Given the description of an element on the screen output the (x, y) to click on. 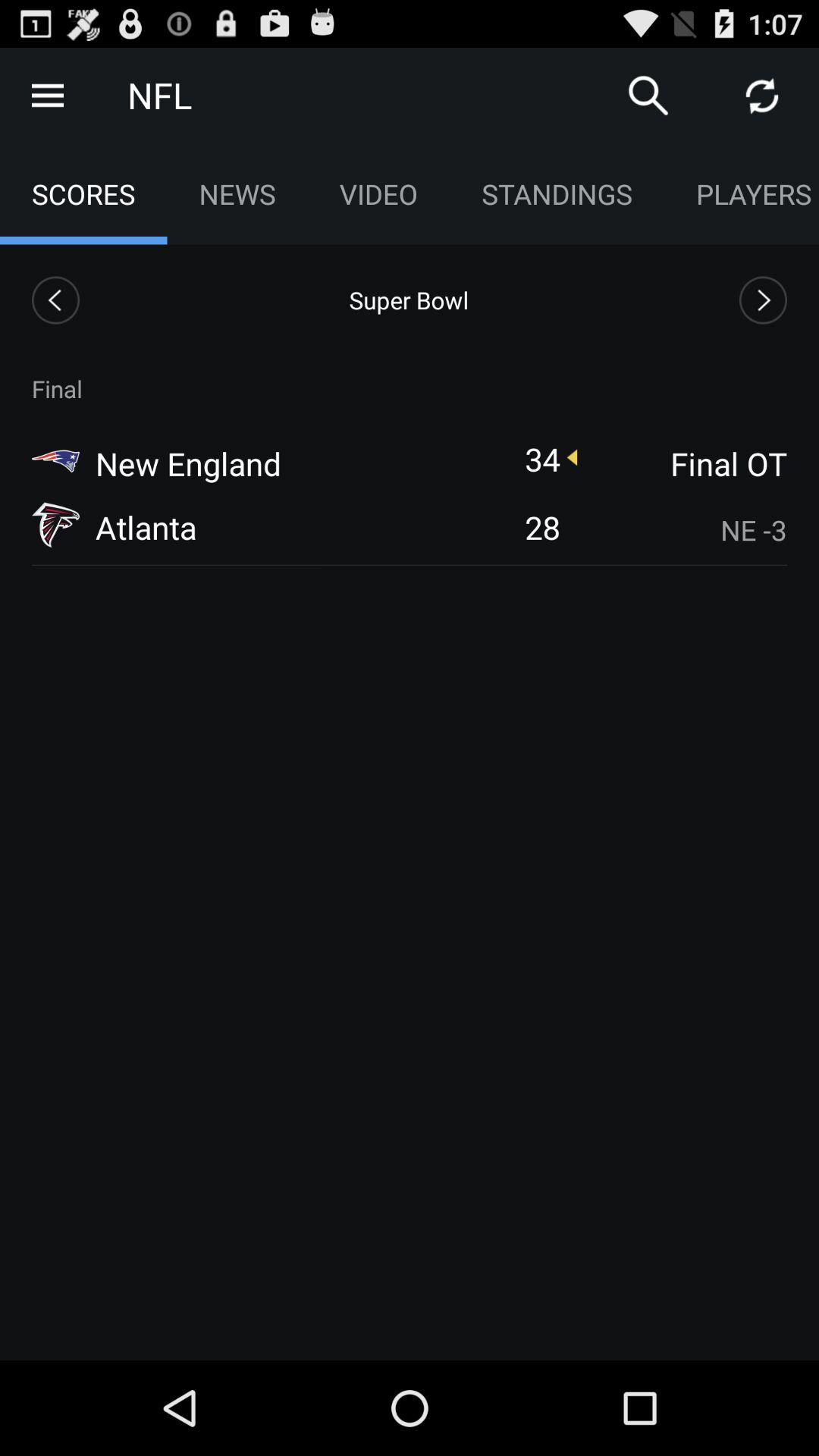
drop down main menu (47, 95)
